Given the description of an element on the screen output the (x, y) to click on. 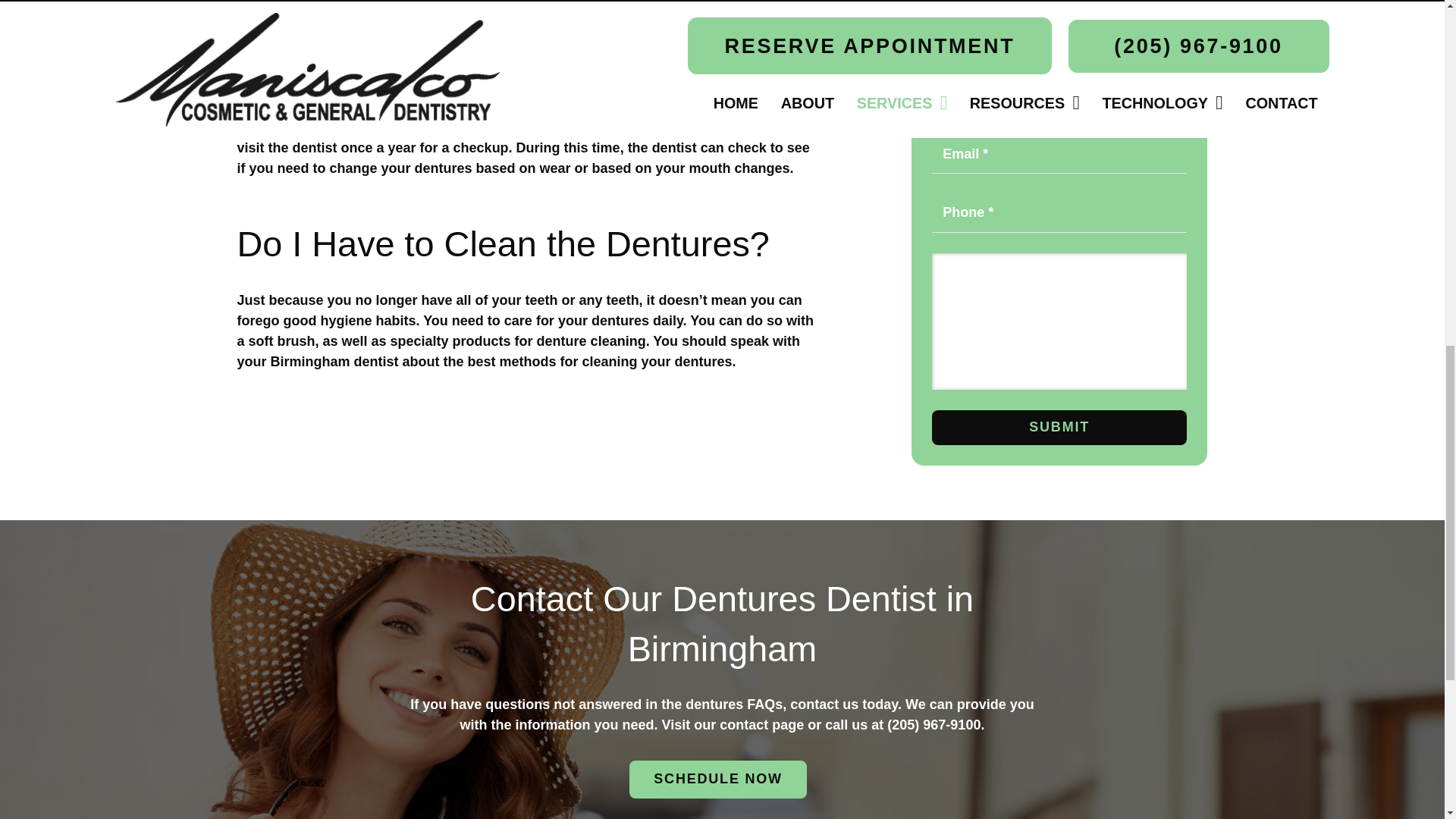
Contact (717, 779)
Back to top (1413, 37)
Submit (1059, 427)
